Given the description of an element on the screen output the (x, y) to click on. 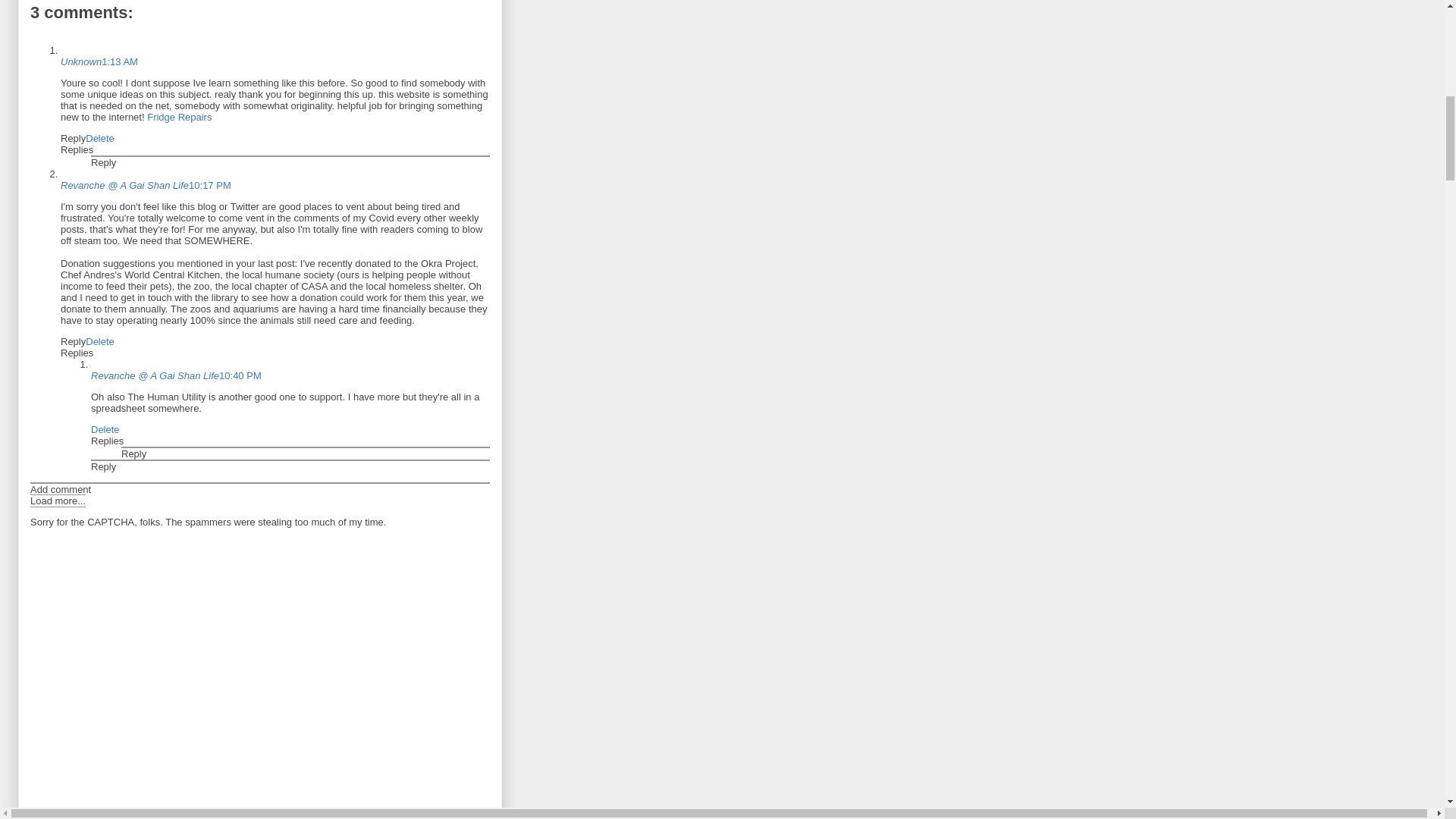
Delete (100, 341)
Replies (106, 440)
Delete (100, 138)
1:13 AM (119, 61)
Reply (73, 138)
Fridge Repairs (179, 116)
Reply (133, 453)
Reply (103, 466)
Reply (103, 162)
Delete (104, 429)
Replies (77, 352)
Replies (77, 149)
Load more... (57, 500)
Add comment (60, 489)
10:40 PM (240, 375)
